Given the description of an element on the screen output the (x, y) to click on. 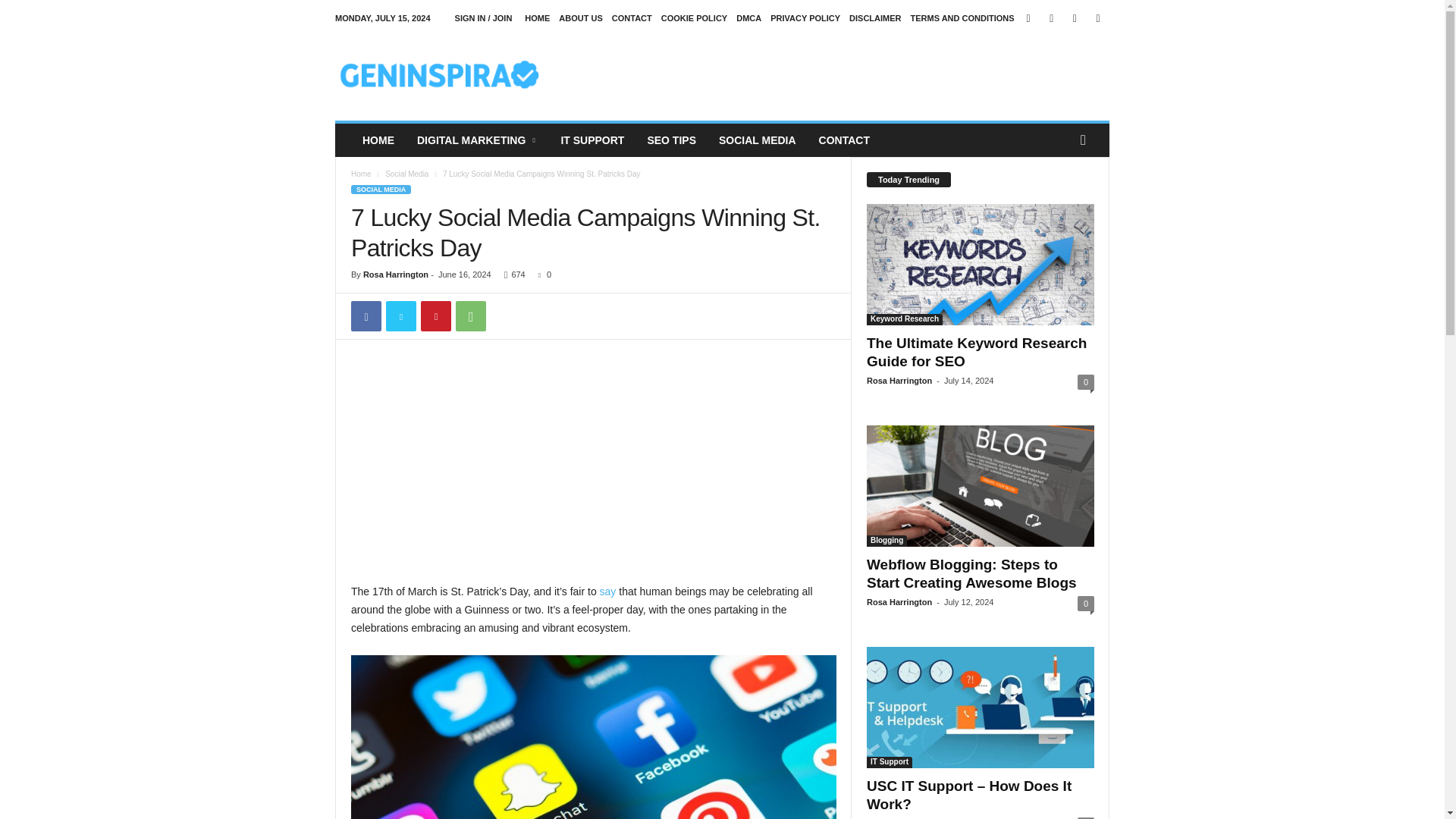
View all posts in Social Media (406, 173)
Advertisement (592, 468)
HOME (537, 17)
Instagram (1051, 18)
Pinterest (435, 316)
7 Lucky Social Media Campaigns Winning St. Patricks Day 1 (592, 737)
COOKIE POLICY (693, 17)
DMCA (748, 17)
TERMS AND CONDITIONS (962, 17)
CONTACT (631, 17)
Facebook (365, 316)
Youtube (1097, 18)
WhatsApp (470, 316)
Twitter (1074, 18)
